Given the description of an element on the screen output the (x, y) to click on. 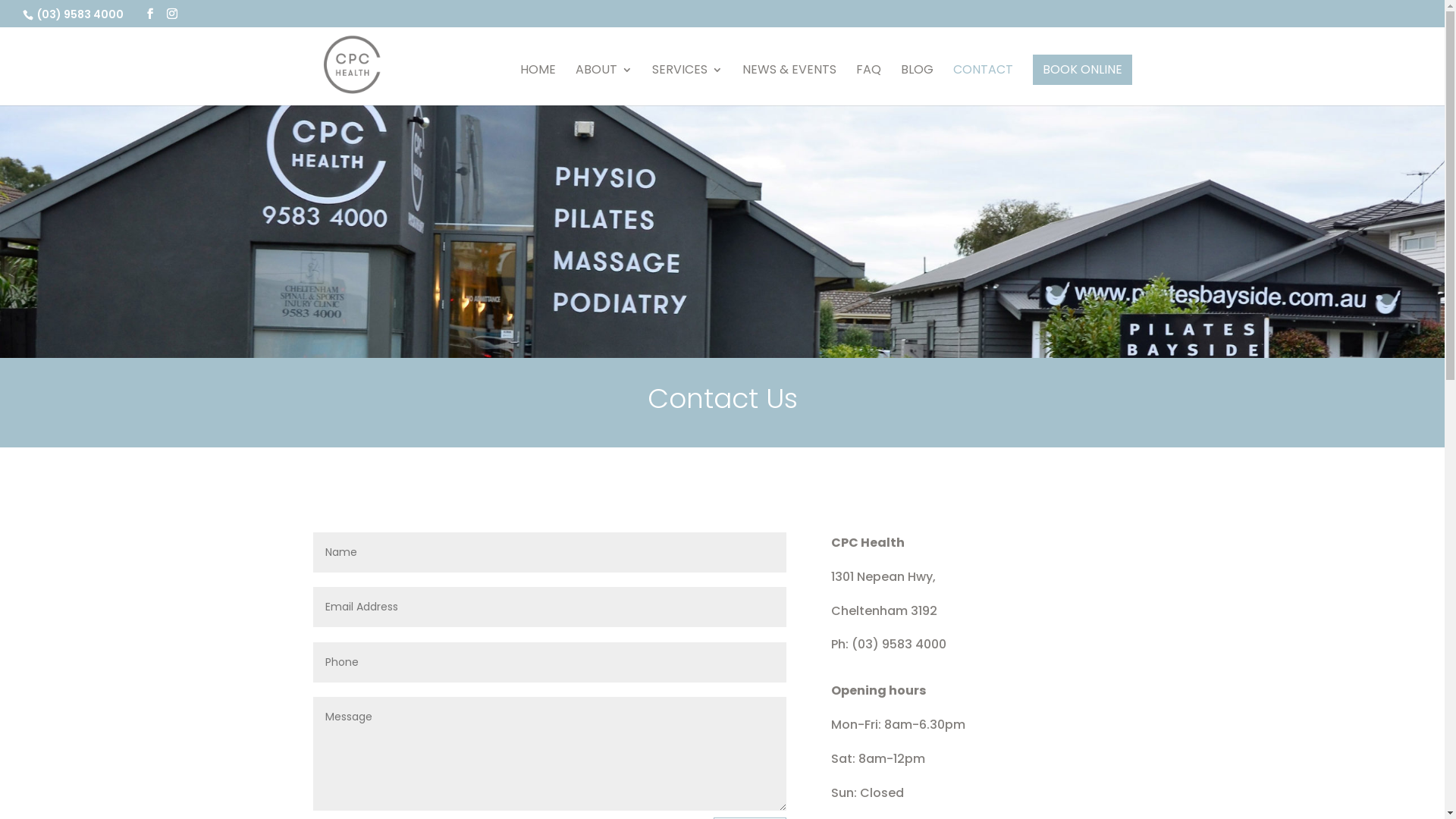
HOME Element type: text (537, 84)
CONTACT Element type: text (982, 84)
NEWS & EVENTS Element type: text (788, 84)
ABOUT Element type: text (602, 84)
BLOG Element type: text (916, 84)
FAQ Element type: text (867, 84)
SERVICES Element type: text (687, 84)
BOOK ONLINE Element type: text (1082, 69)
